Given the description of an element on the screen output the (x, y) to click on. 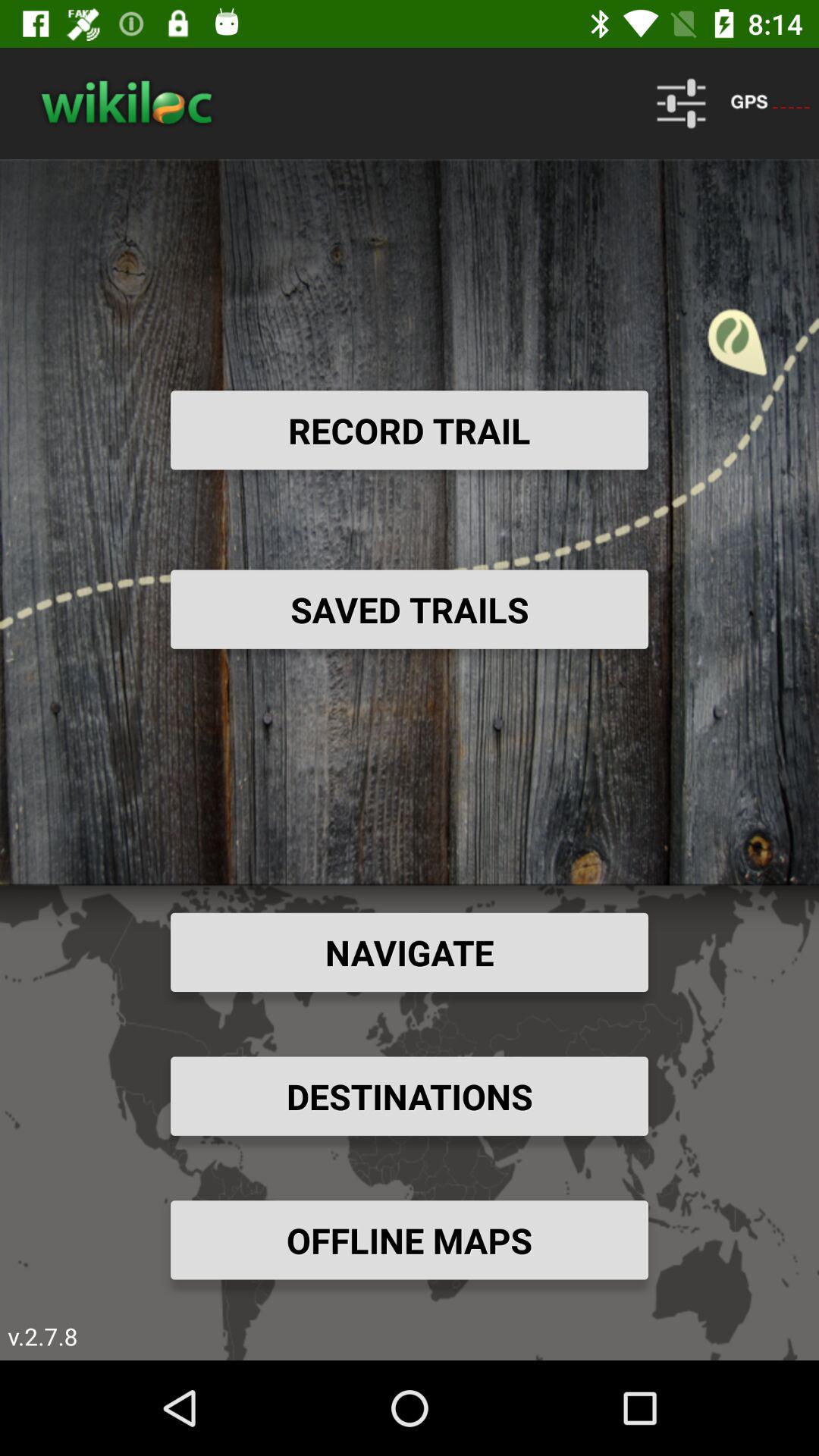
tap the icon above the saved trails icon (409, 429)
